Given the description of an element on the screen output the (x, y) to click on. 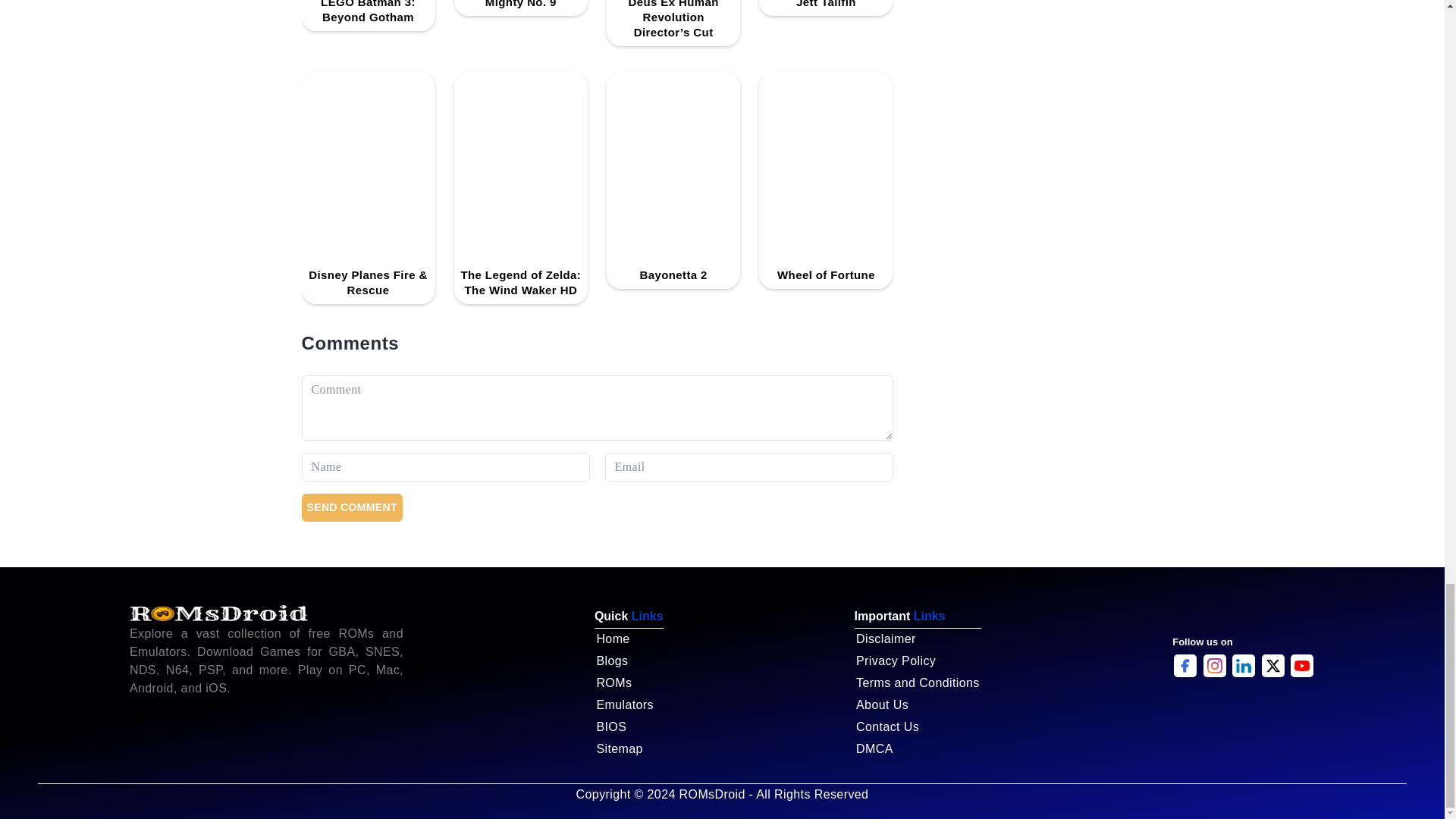
DMCA.com Protection Status (1243, 714)
